Given the description of an element on the screen output the (x, y) to click on. 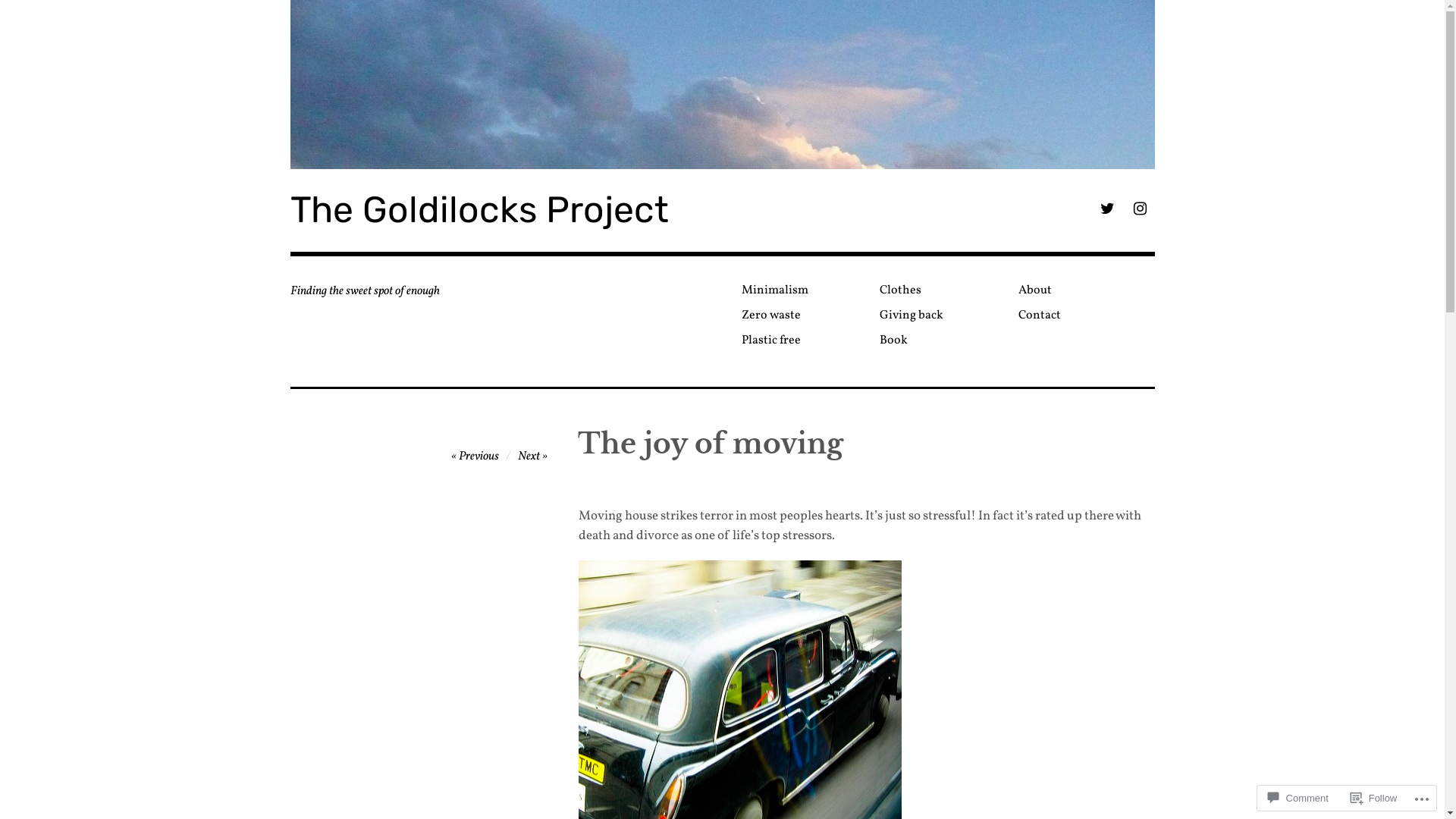
Zero waste Element type: text (804, 315)
Comment Element type: text (1297, 797)
Contact Element type: text (1081, 315)
The Goldilocks Project Element type: text (478, 209)
Previous Element type: text (474, 456)
twitter Element type: text (1107, 209)
TheGoldilocksProject Element type: text (627, 478)
About Element type: text (1081, 290)
Minimalism Element type: text (606, 478)
Minimalism Element type: text (804, 290)
instagram Element type: text (1138, 209)
The Goldilocks Project Element type: hover (721, 84)
Next Element type: text (532, 456)
Clothes Element type: text (942, 290)
Book Element type: text (942, 340)
Follow Element type: text (1373, 797)
Plastic free Element type: text (804, 340)
Giving back Element type: text (942, 315)
